Given the description of an element on the screen output the (x, y) to click on. 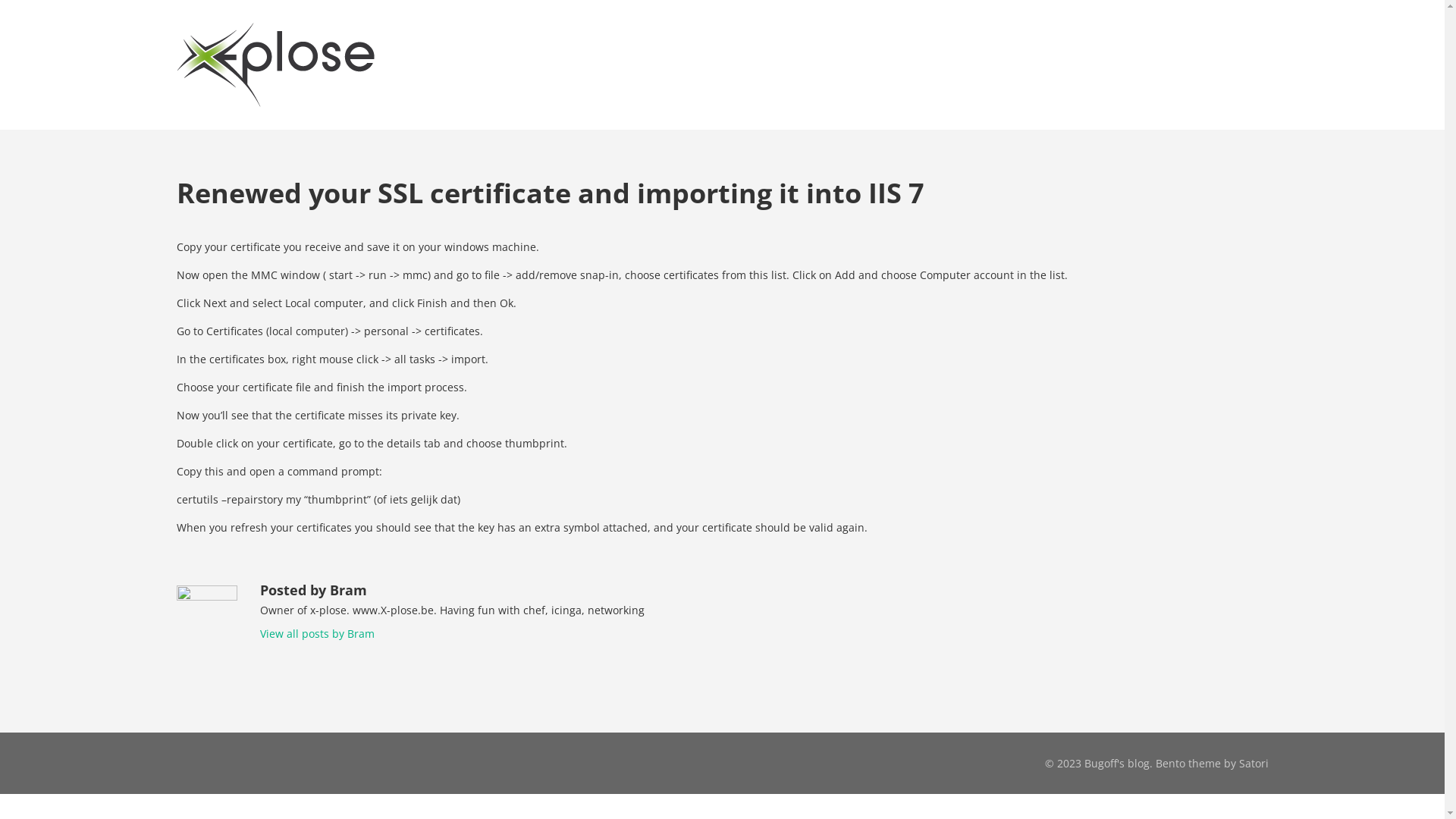
View all posts by Bram Element type: text (316, 633)
